Given the description of an element on the screen output the (x, y) to click on. 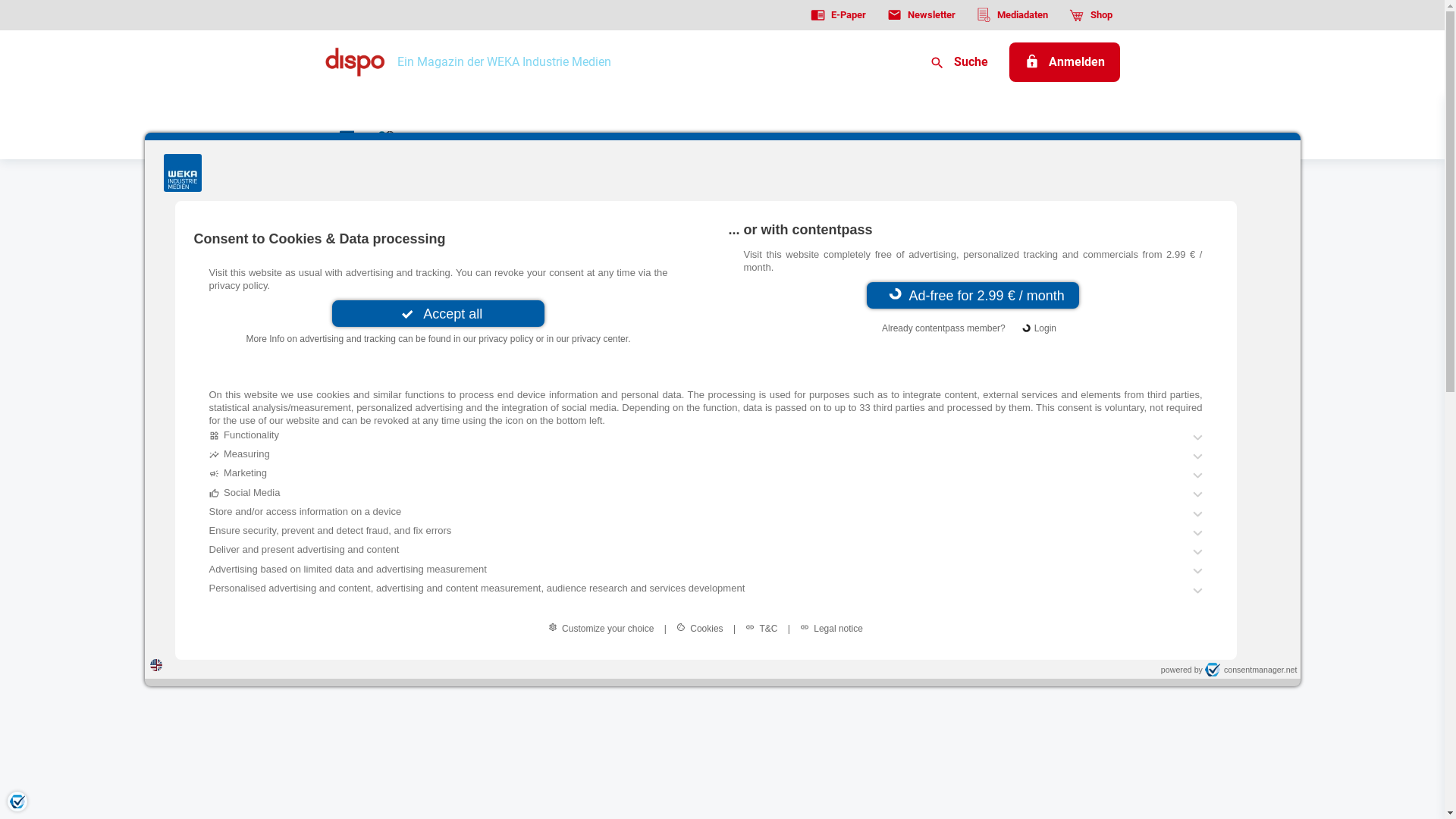
Multimedia Element type: text (1063, 138)
Meine News Element type: text (420, 138)
Startseite Element type: text (349, 184)
E-Paper Element type: text (838, 15)
Transport Element type: text (615, 138)
Unternehmen Element type: text (948, 138)
Green Logistics Element type: text (827, 138)
Shop Element type: text (1090, 15)
Dispo logo Element type: hover (354, 62)
Lieferkette Element type: text (713, 138)
Newsletter Element type: text (921, 15)
Mediadaten Element type: text (1012, 15)
Suche Element type: text (958, 61)
Anmelden Element type: text (1063, 61)
Intralogistik Element type: text (514, 138)
